Given the description of an element on the screen output the (x, y) to click on. 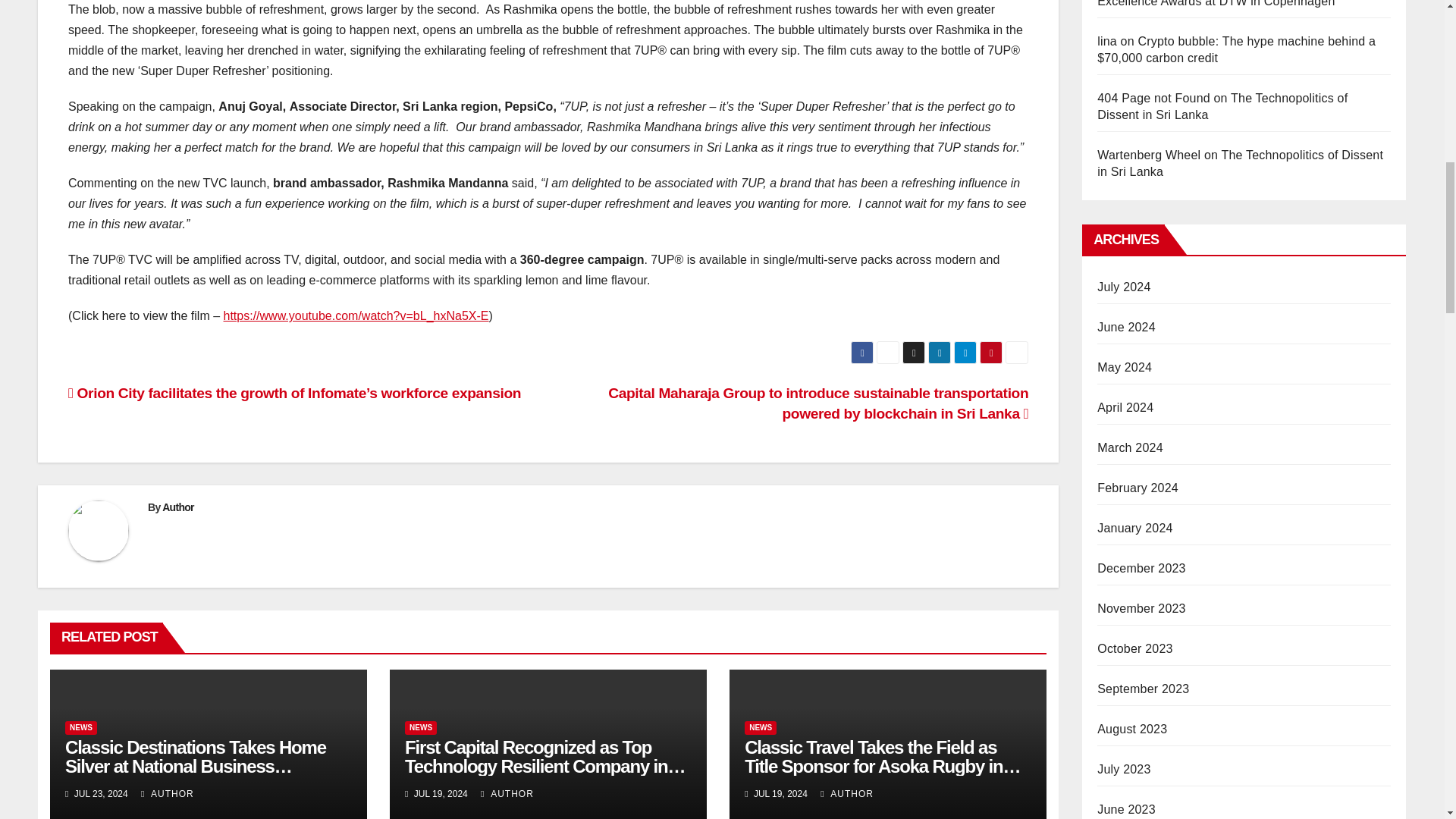
NEWS (81, 727)
AUTHOR (507, 793)
NEWS (760, 727)
AUTHOR (847, 793)
AUTHOR (167, 793)
Author (177, 507)
